Given the description of an element on the screen output the (x, y) to click on. 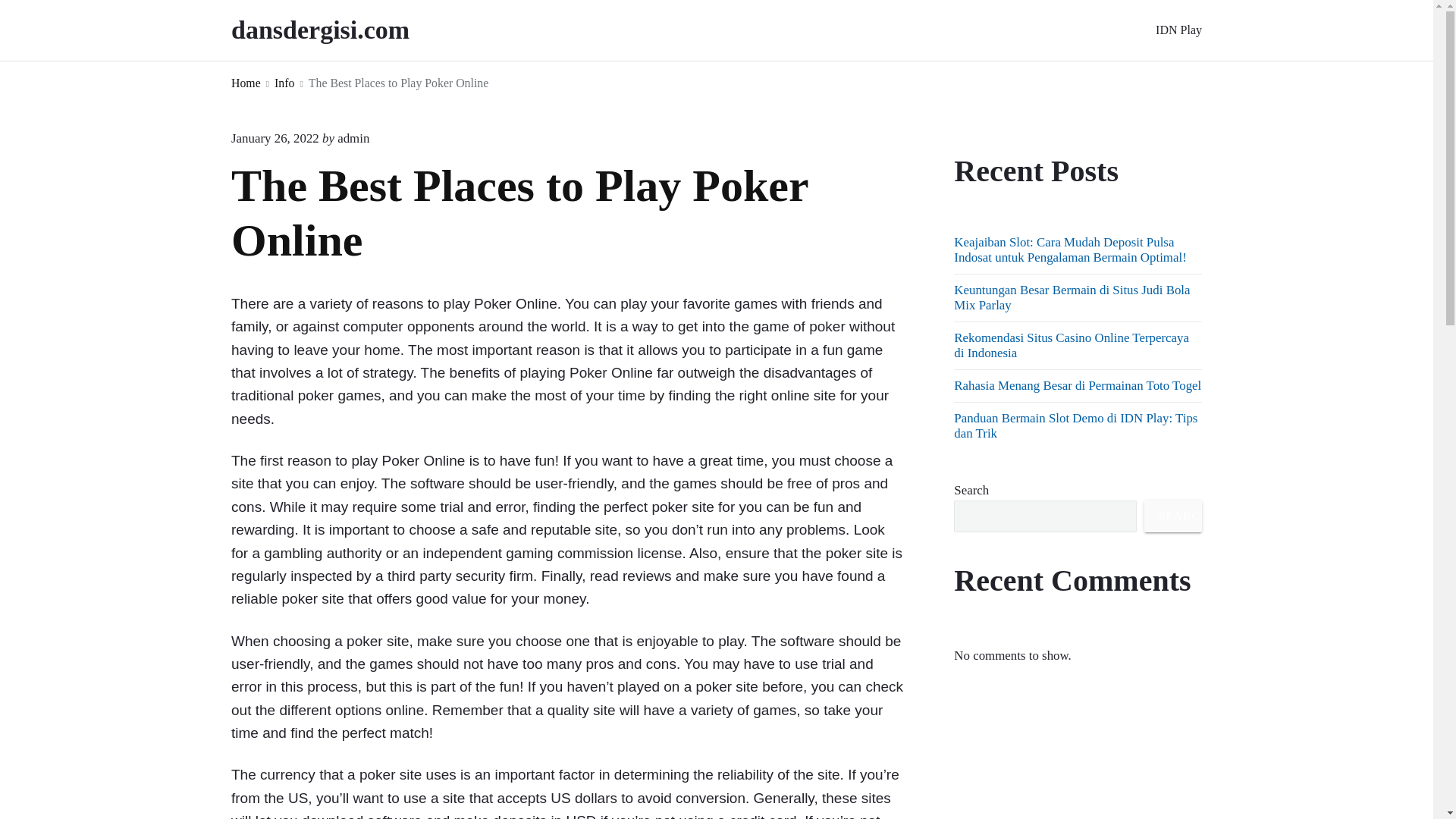
SEARCH (1173, 516)
Keuntungan Besar Bermain di Situs Judi Bola Mix Parlay (1071, 297)
Panduan Bermain Slot Demo di IDN Play: Tips dan Trik (1074, 425)
Home (245, 82)
Posts by admin (353, 138)
Rahasia Menang Besar di Permainan Toto Togel (1077, 385)
IDN Play (1179, 30)
Wednesday, January 26, 2022, 7:26 pm (274, 138)
dansdergisi.com (341, 30)
Info (284, 82)
